Given the description of an element on the screen output the (x, y) to click on. 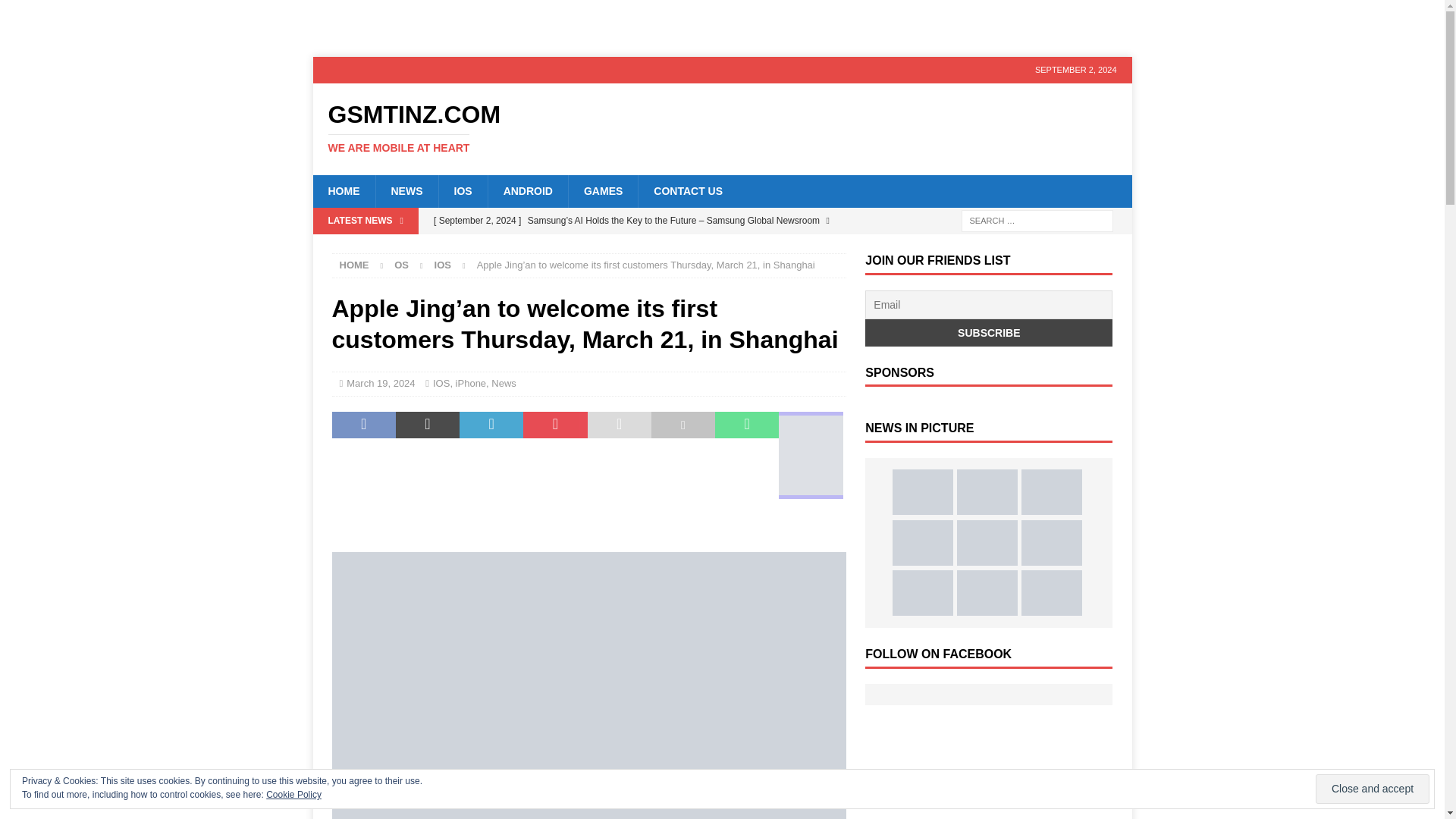
HOME (354, 265)
OS (401, 265)
Search (56, 11)
NEWS (441, 127)
iPhone (406, 191)
ANDROID (470, 383)
IOS (527, 191)
Close and accept (440, 383)
March 19, 2024 (1372, 788)
